Given the description of an element on the screen output the (x, y) to click on. 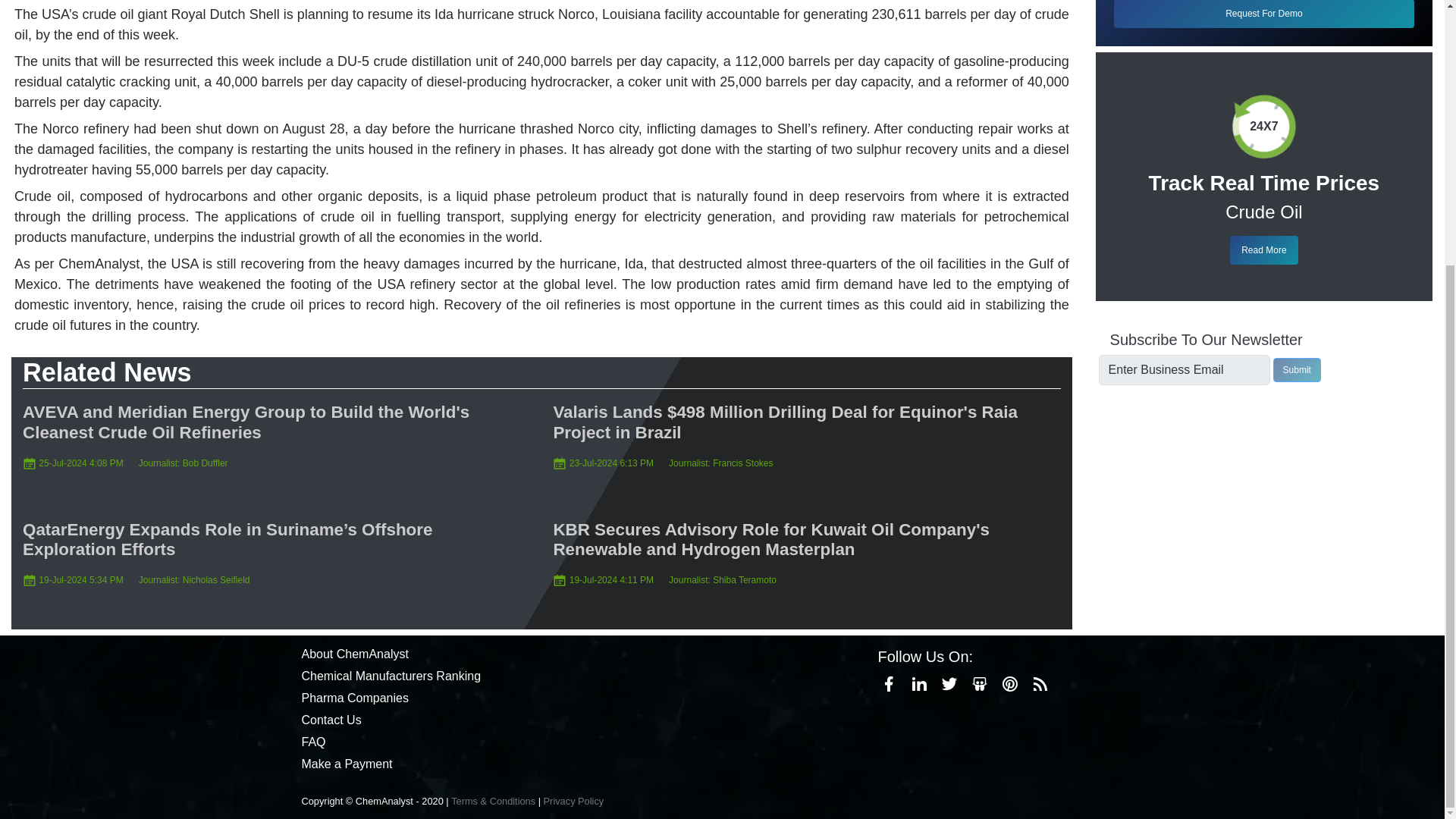
Submit (1296, 369)
